Given the description of an element on the screen output the (x, y) to click on. 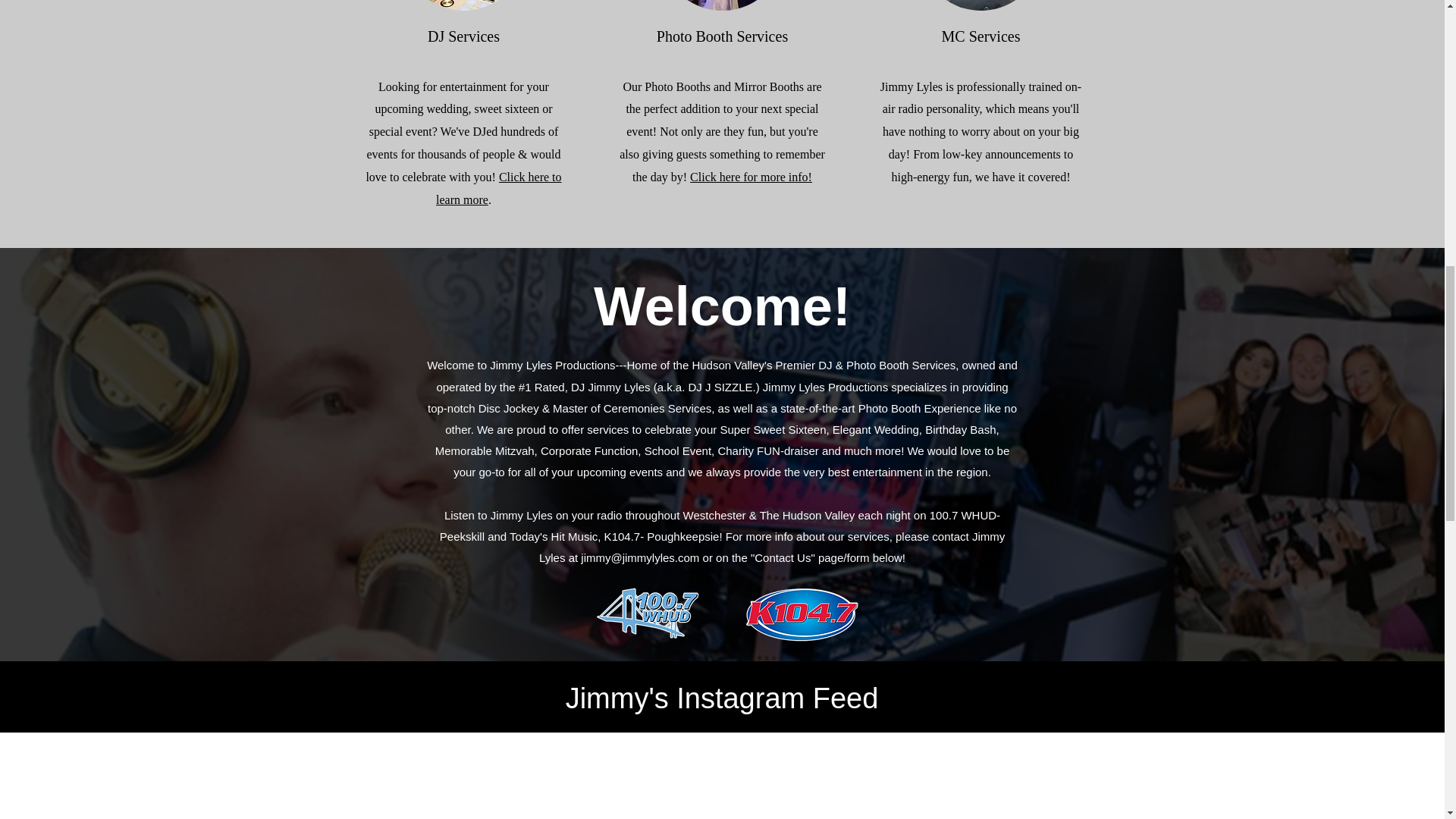
Click here for more info! (751, 176)
Click here to learn more (498, 188)
SITE-HUD.png (647, 612)
K-SITE.png (800, 613)
